Given the description of an element on the screen output the (x, y) to click on. 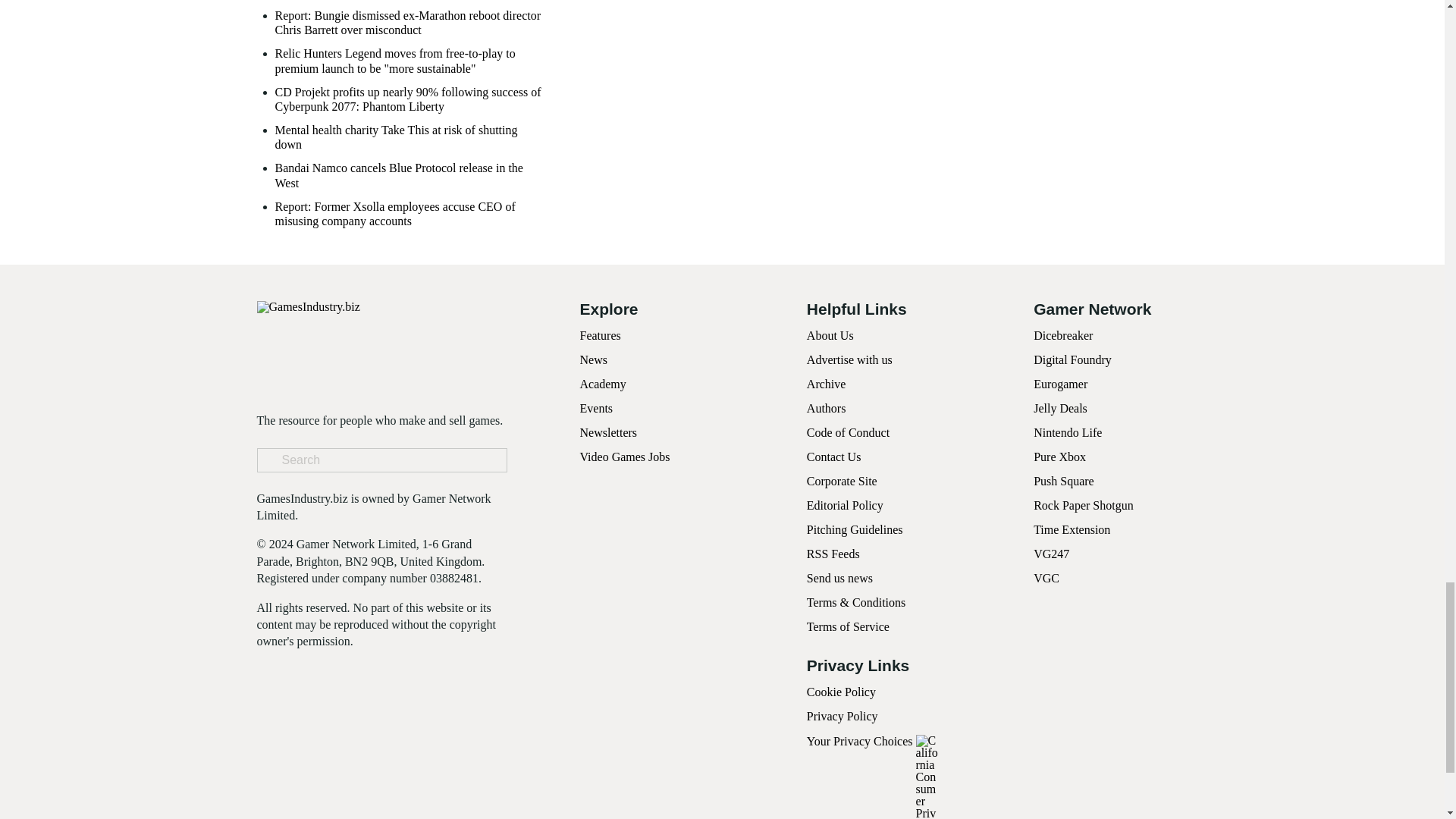
Newsletters (608, 431)
Academy (602, 383)
Bandai Namco cancels Blue Protocol release in the West (409, 174)
Mental health charity Take This at risk of shutting down (409, 136)
Features (599, 335)
Advertise with us (849, 359)
Events (595, 408)
Video Games Jobs (624, 456)
About Us (829, 335)
